Given the description of an element on the screen output the (x, y) to click on. 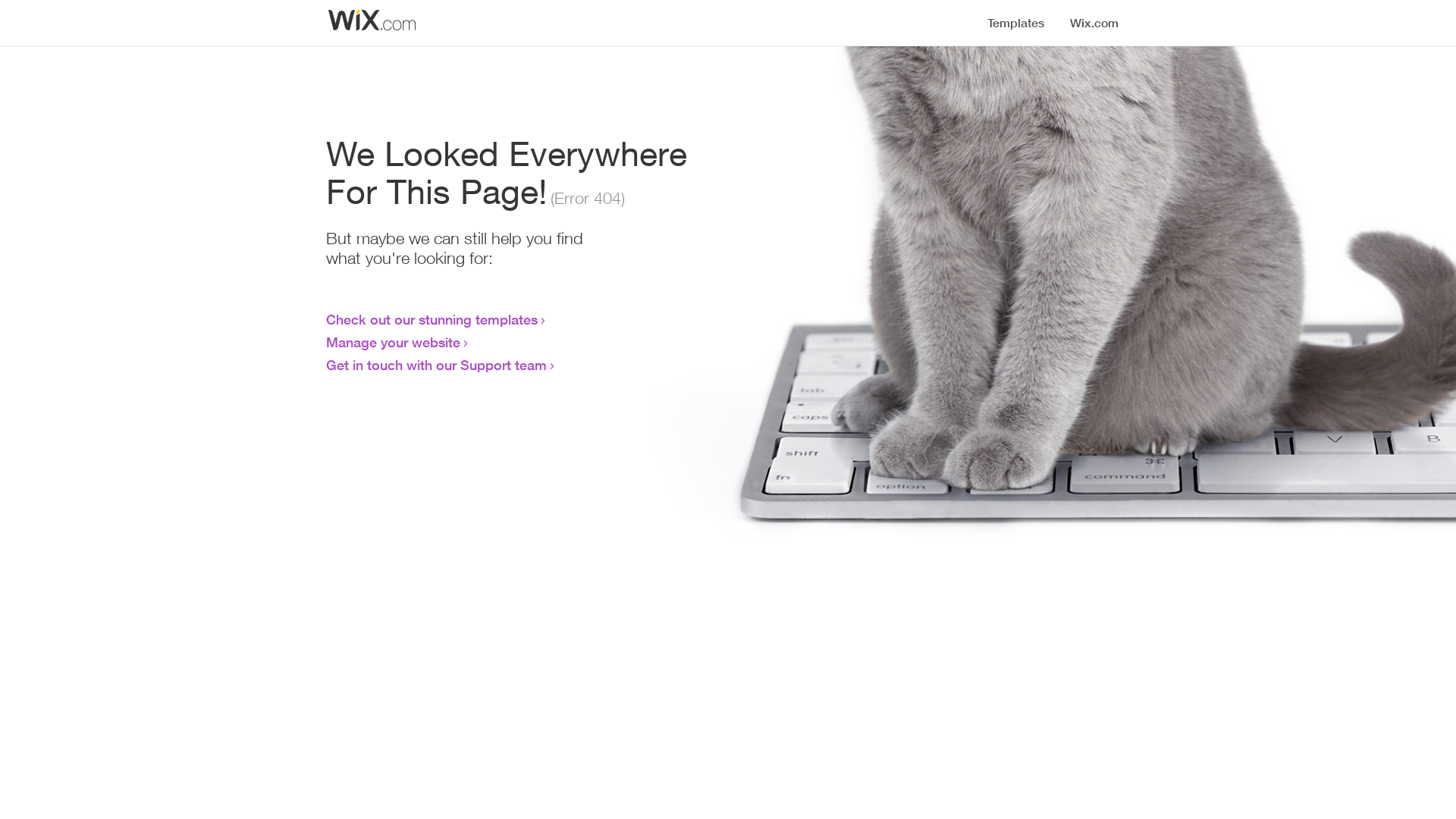
Check out our stunning templates Element type: text (431, 318)
Get in touch with our Support team Element type: text (436, 364)
Manage your website Element type: text (393, 341)
